Given the description of an element on the screen output the (x, y) to click on. 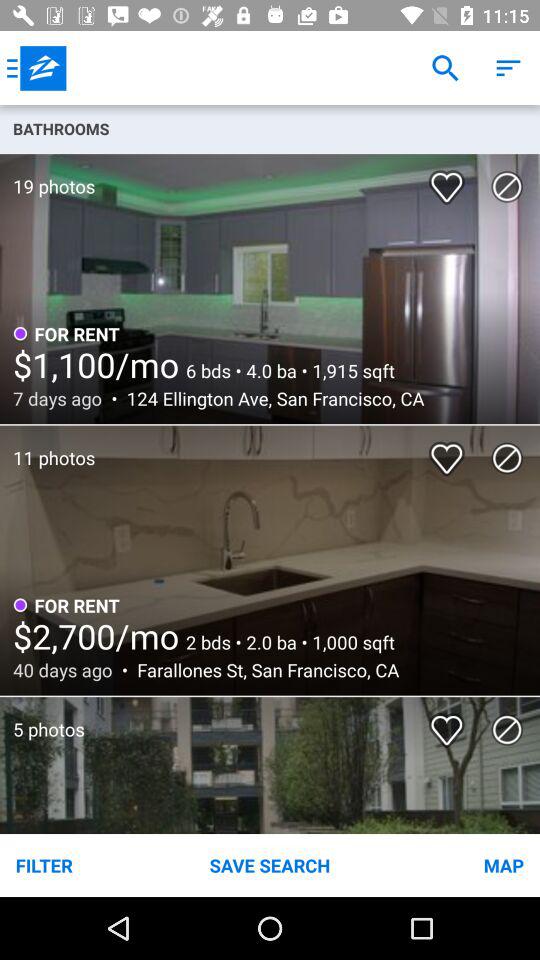
tap the icon above the bathrooms icon (508, 67)
